Given the description of an element on the screen output the (x, y) to click on. 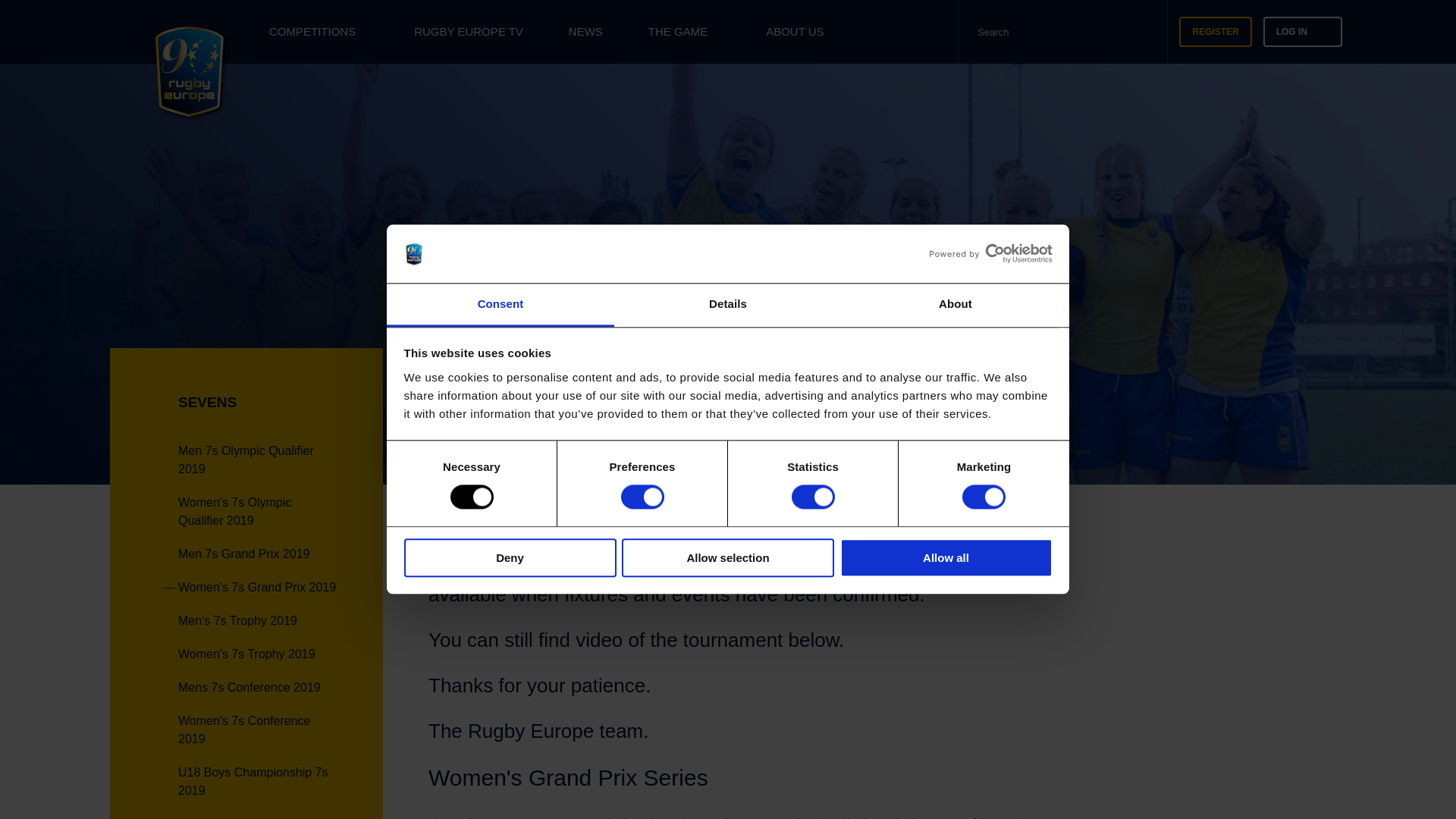
About (954, 304)
Consent (500, 304)
Details (727, 304)
